Given the description of an element on the screen output the (x, y) to click on. 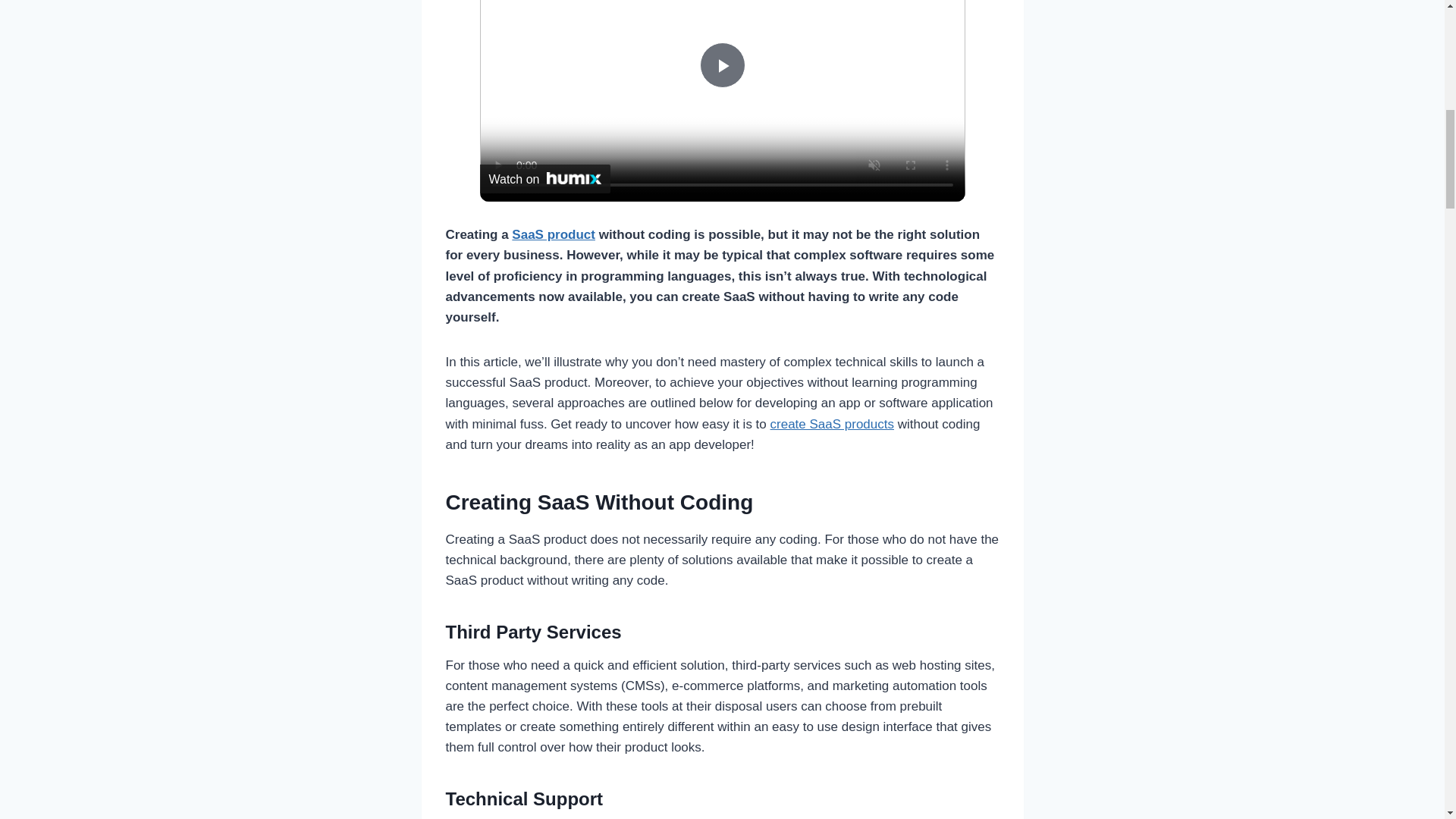
Play Video (721, 64)
Watch on (544, 178)
SaaS product (553, 234)
Play Video (721, 64)
create SaaS products (831, 423)
